Given the description of an element on the screen output the (x, y) to click on. 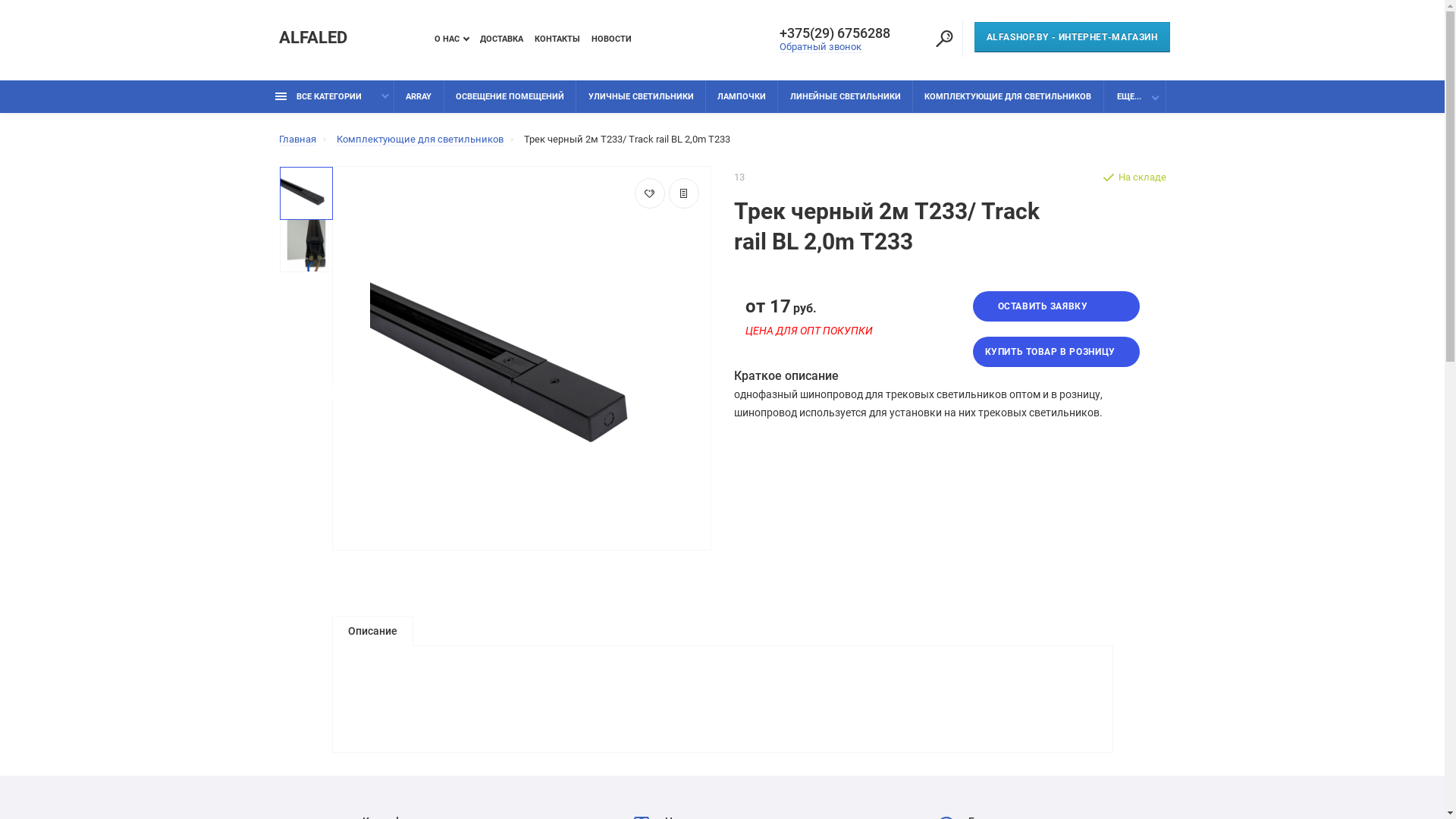
ALFALED Element type: text (313, 37)
ARRAY Element type: text (418, 96)
+375(29) 6756288 Element type: text (840, 32)
